Given the description of an element on the screen output the (x, y) to click on. 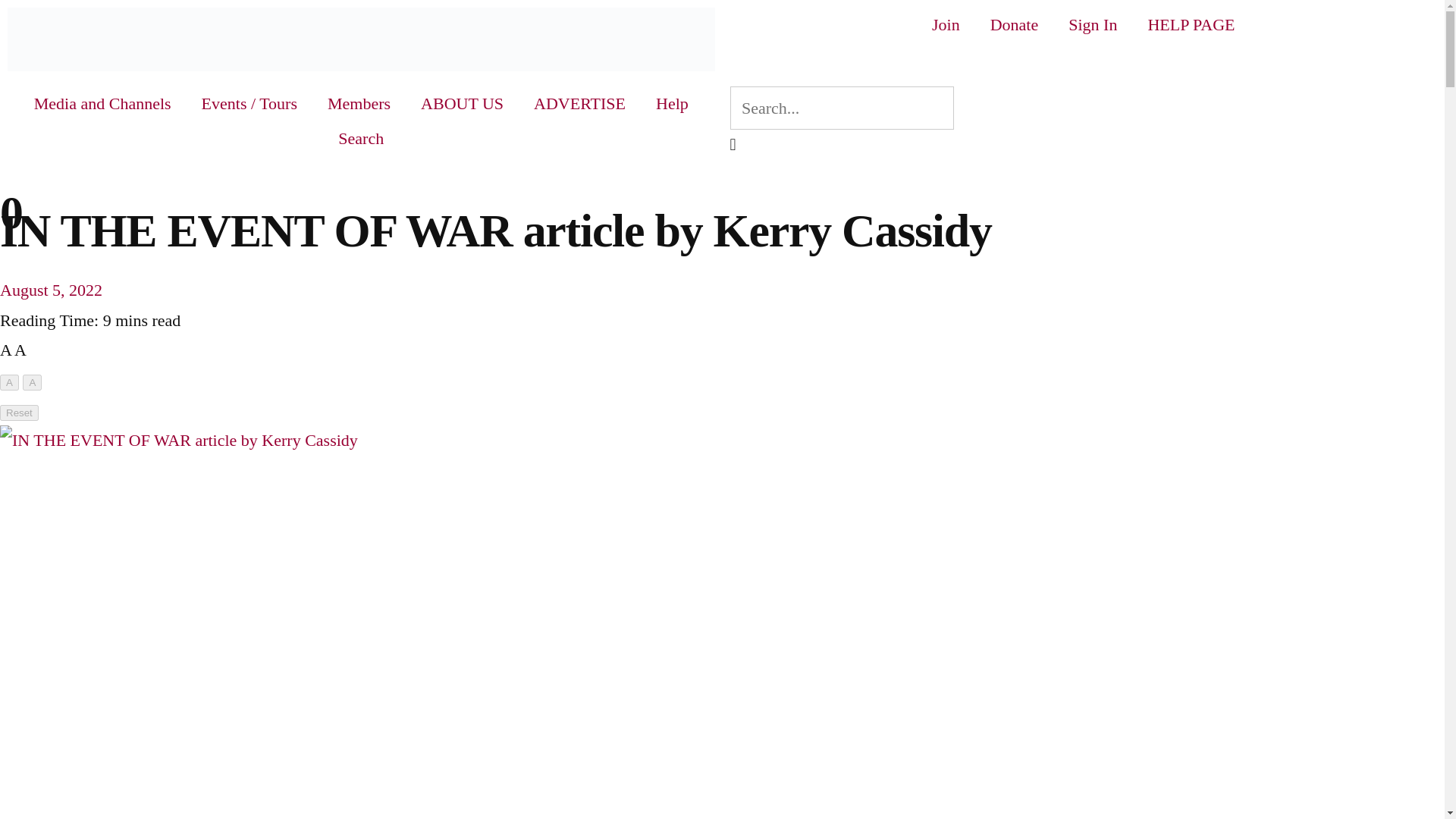
Join (946, 24)
Sign In (1092, 24)
HELP PAGE (1190, 24)
Donate (1014, 24)
Media and Channels (102, 103)
